Given the description of an element on the screen output the (x, y) to click on. 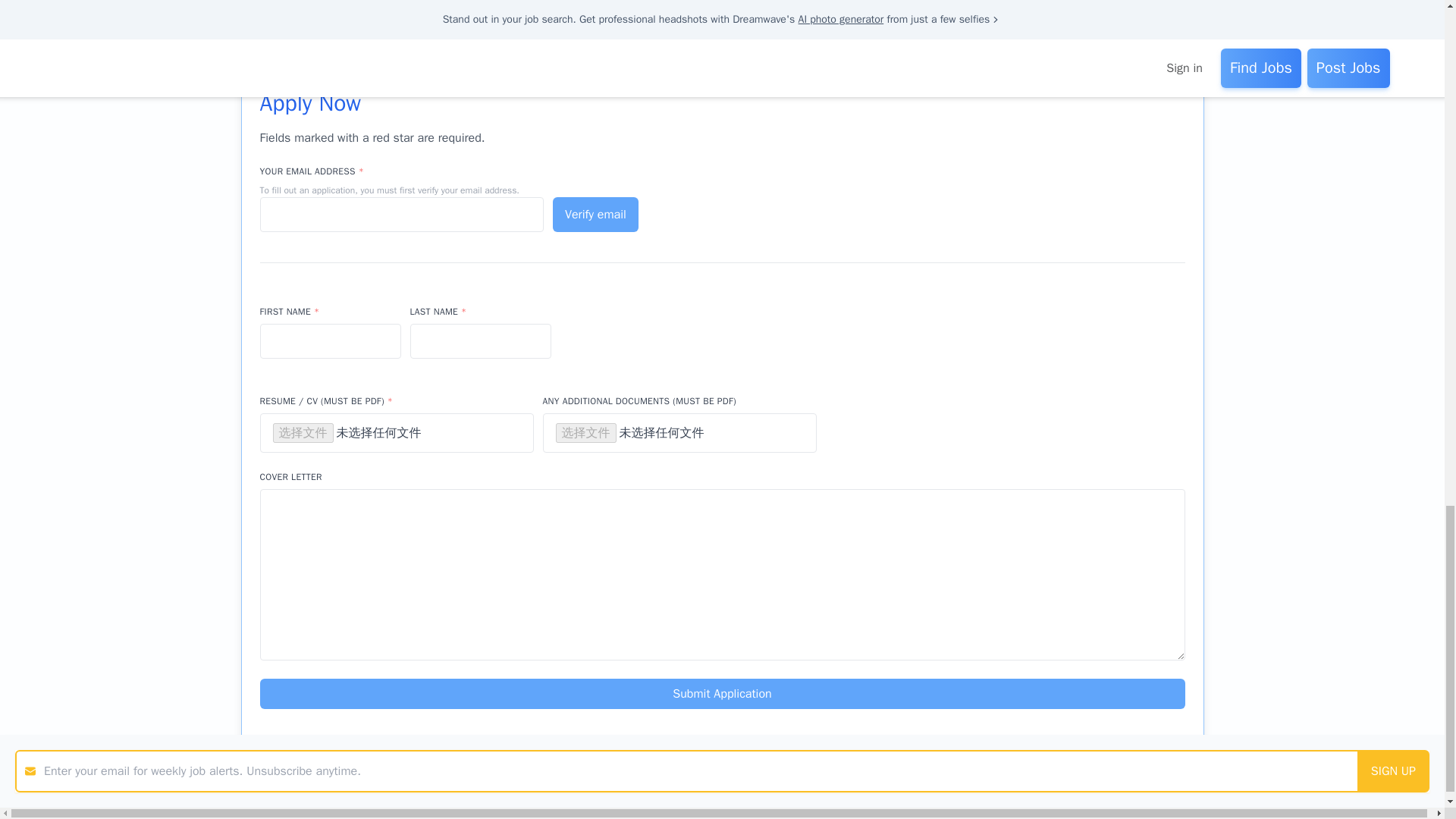
Submit Application (722, 693)
